Given the description of an element on the screen output the (x, y) to click on. 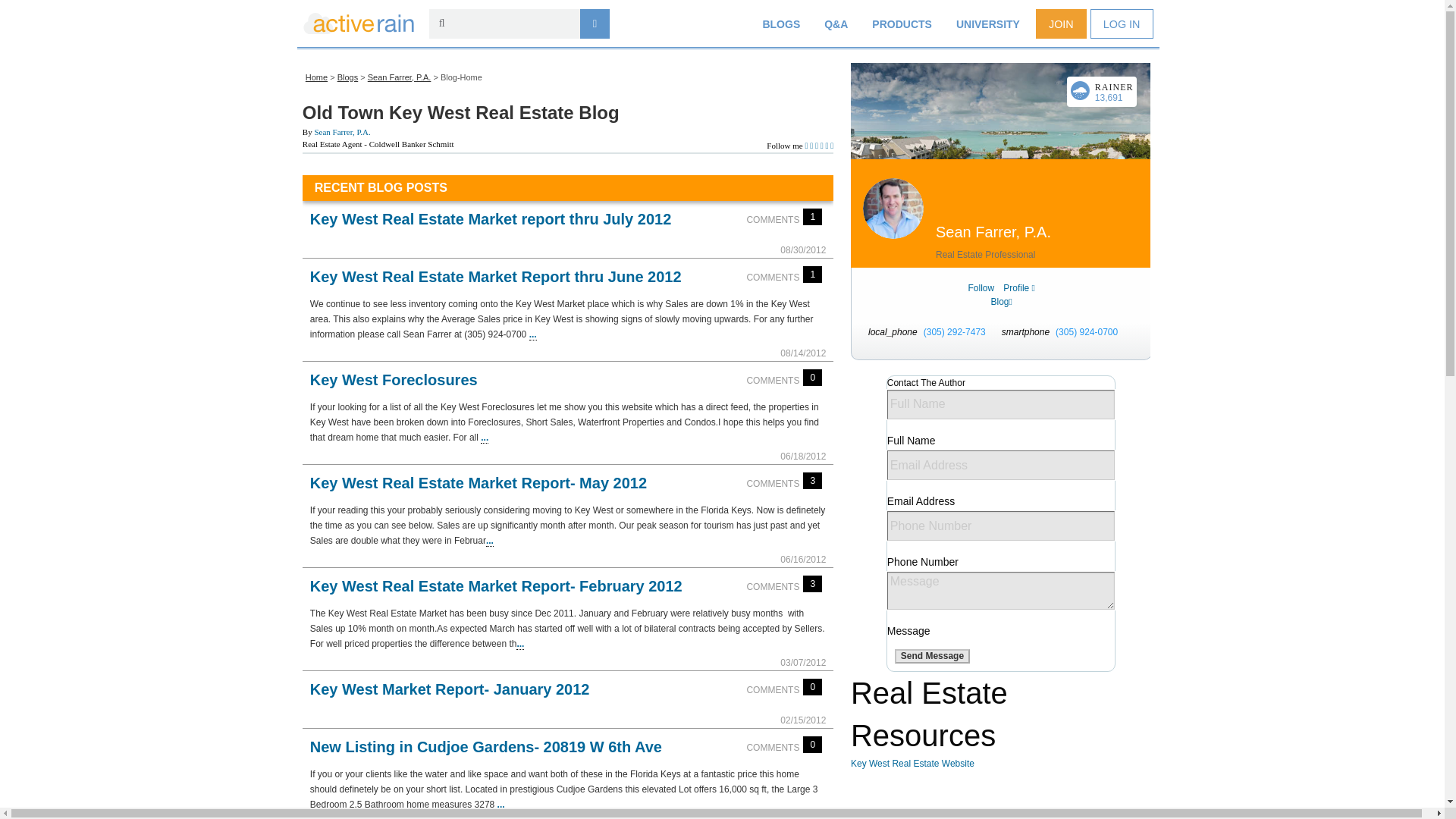
Key West Real Estate Market Report- February 2012 (496, 586)
Key West Real Estate Website (912, 763)
Key West Market Report- January 2012 (449, 688)
Send Message (932, 656)
Key West Real Estate Market Report- May 2012 (478, 483)
Sean Farrer, P.A. (399, 76)
Sean Farrer, P.A. (341, 131)
UNIVERSITY (987, 23)
cell (1068, 332)
New Listing in Cudjoe Gardens- 20819 W 6th Ave (486, 746)
